Given the description of an element on the screen output the (x, y) to click on. 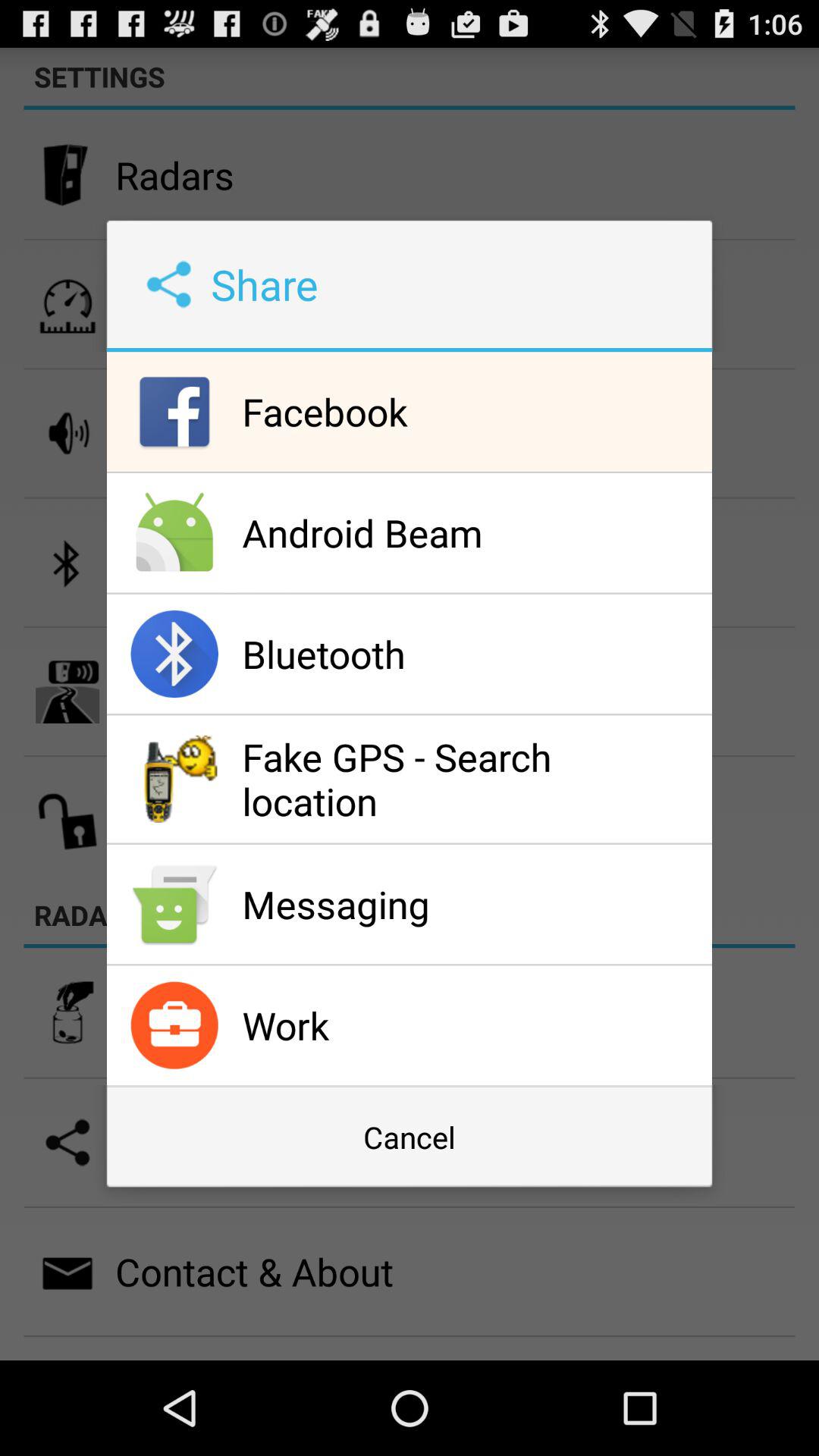
choose facebook item (473, 411)
